Given the description of an element on the screen output the (x, y) to click on. 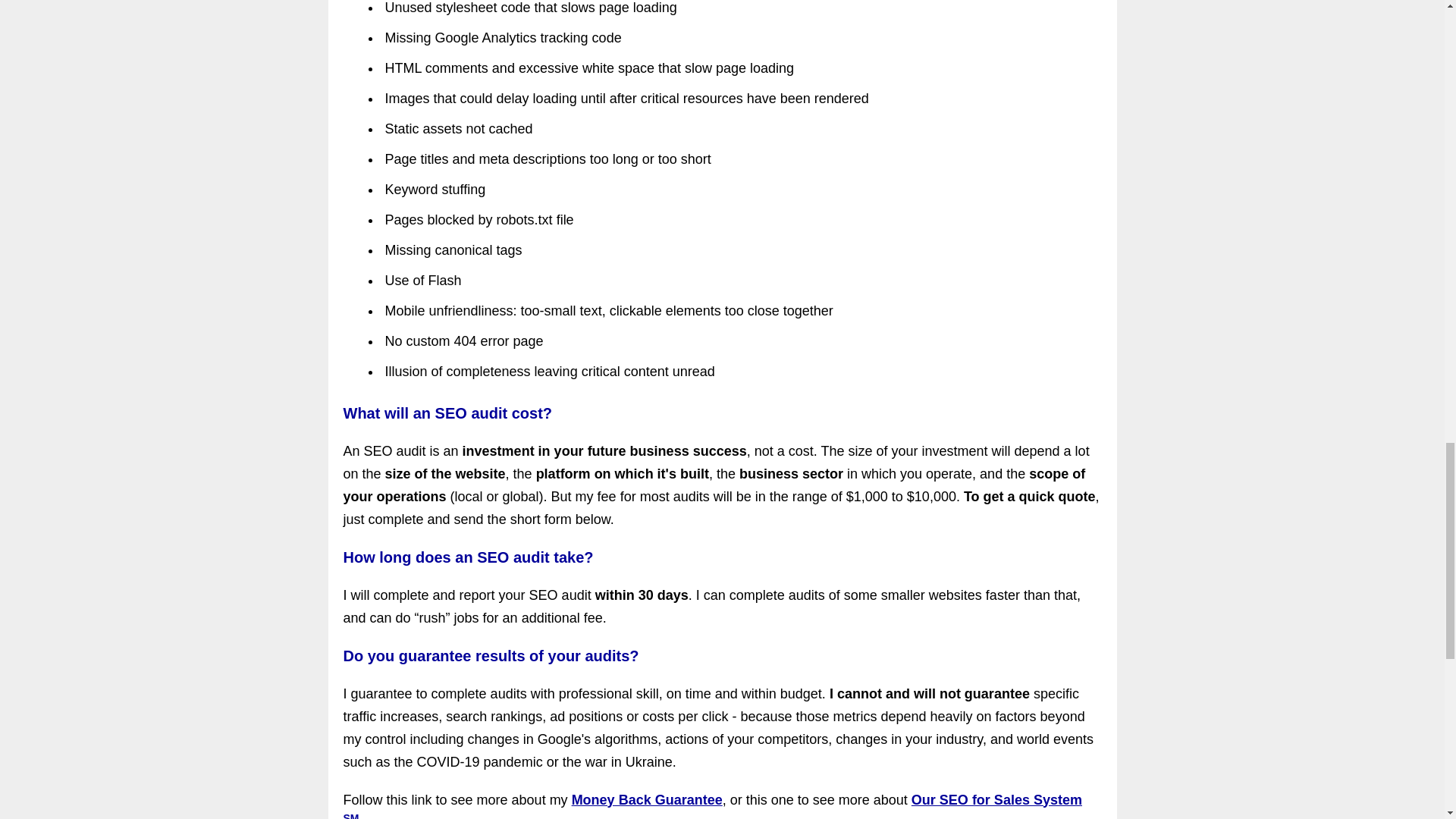
Our SEO for Sales System SM (711, 805)
Money Back Guarantee (647, 799)
